Given the description of an element on the screen output the (x, y) to click on. 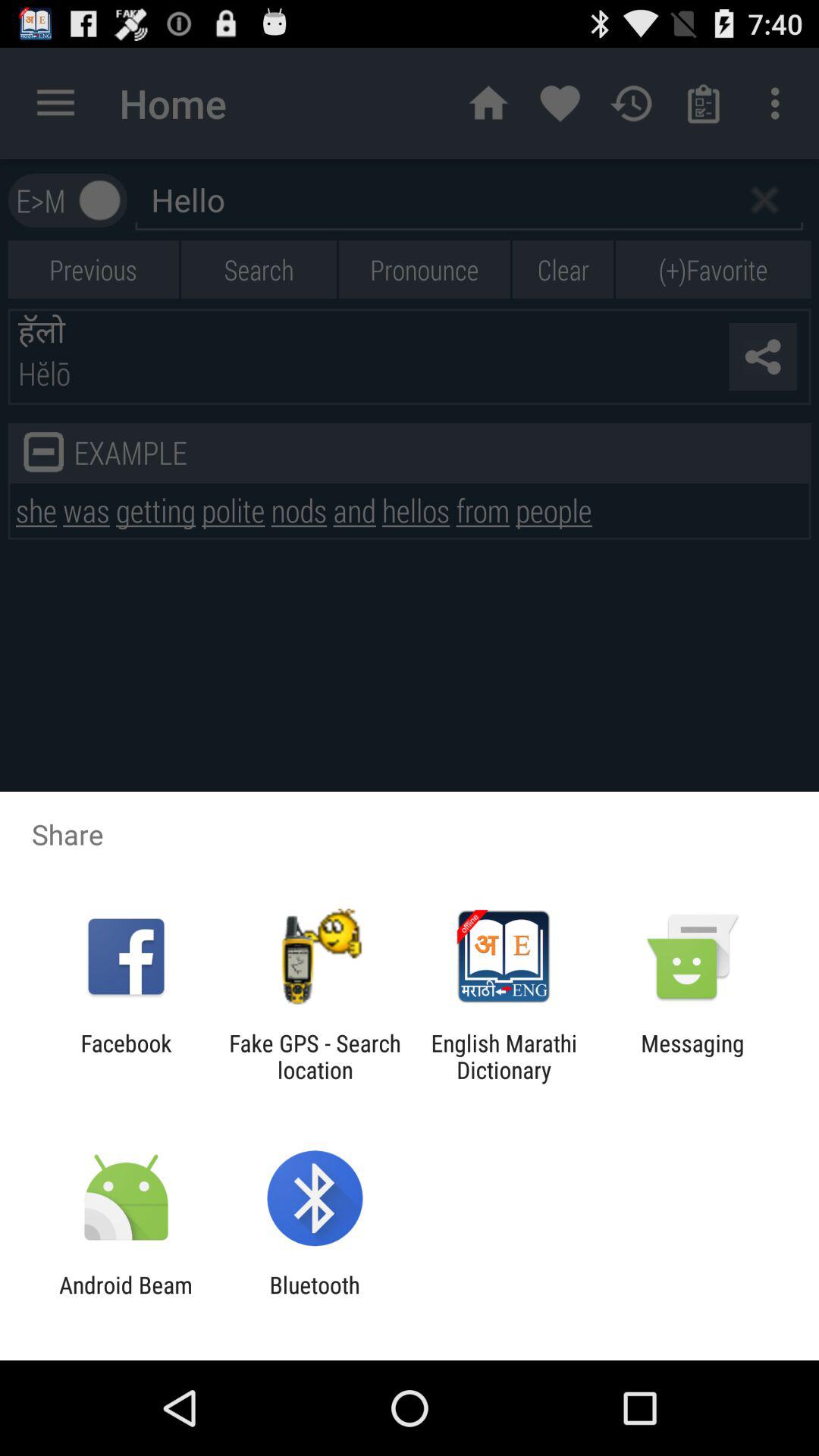
scroll until the fake gps search app (314, 1056)
